Given the description of an element on the screen output the (x, y) to click on. 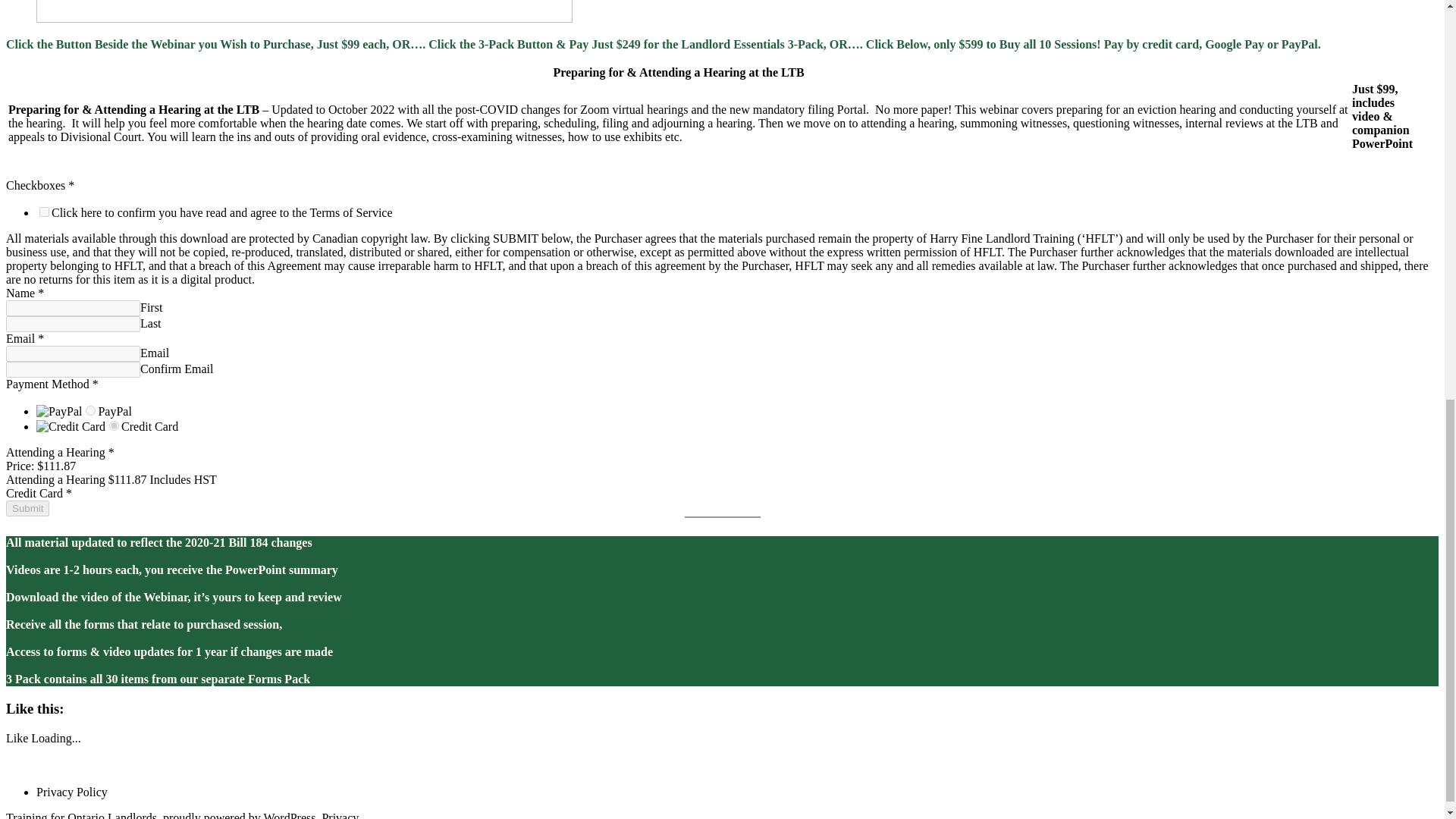
Privacy Policy (71, 791)
Credit Card (114, 425)
Submit (27, 508)
Credit Card (70, 427)
PayPal (90, 410)
PayPal (58, 411)
